Given the description of an element on the screen output the (x, y) to click on. 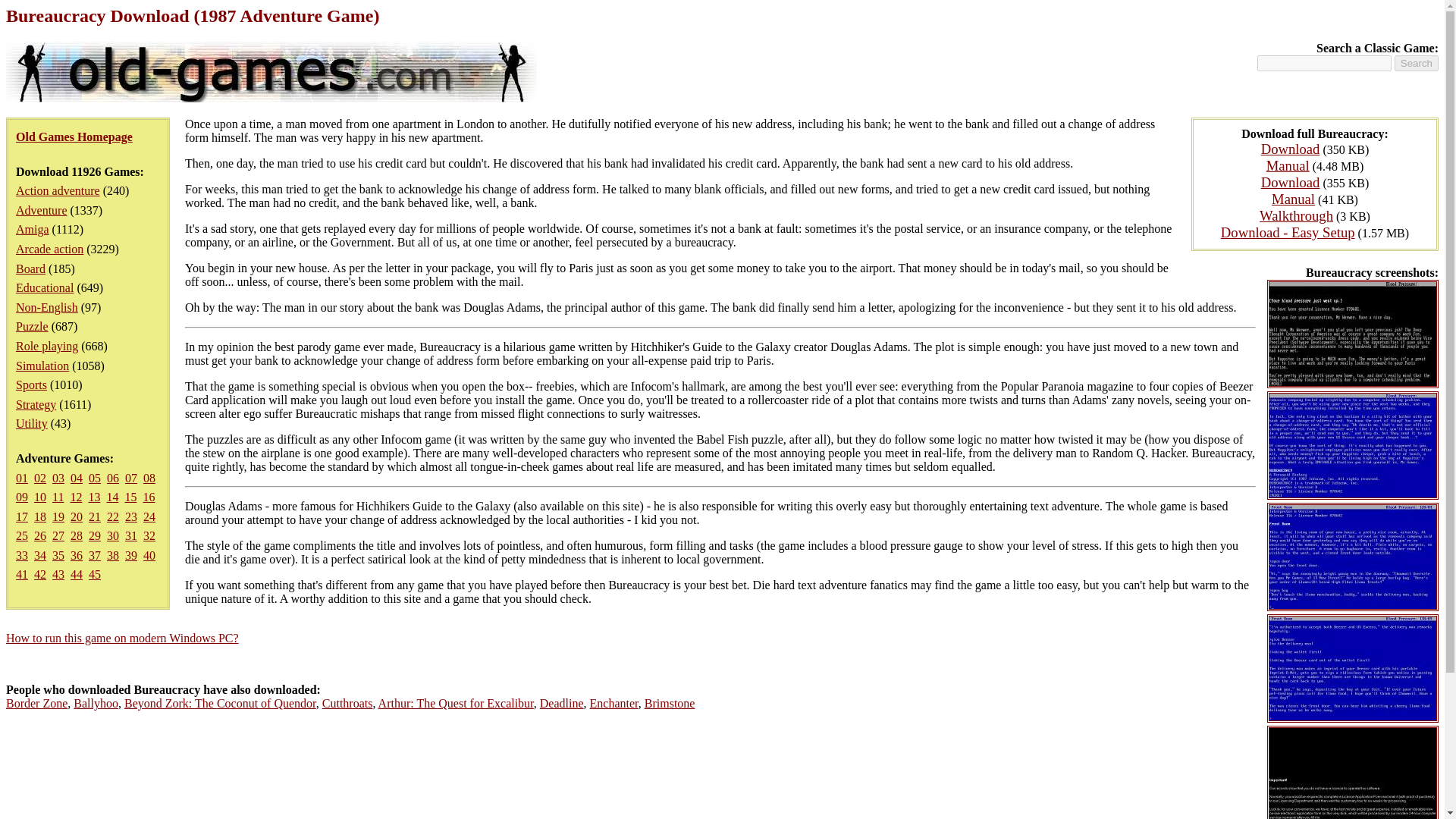
Strategy (36, 404)
16 (148, 496)
08 (148, 477)
07 (130, 477)
10 (39, 496)
Adventure (41, 210)
15 (129, 496)
Old Games Homepage (74, 136)
12 (75, 496)
06 (112, 477)
04 (75, 477)
Simulation (42, 365)
Arcade action (49, 248)
23 (130, 516)
09 (21, 496)
